Given the description of an element on the screen output the (x, y) to click on. 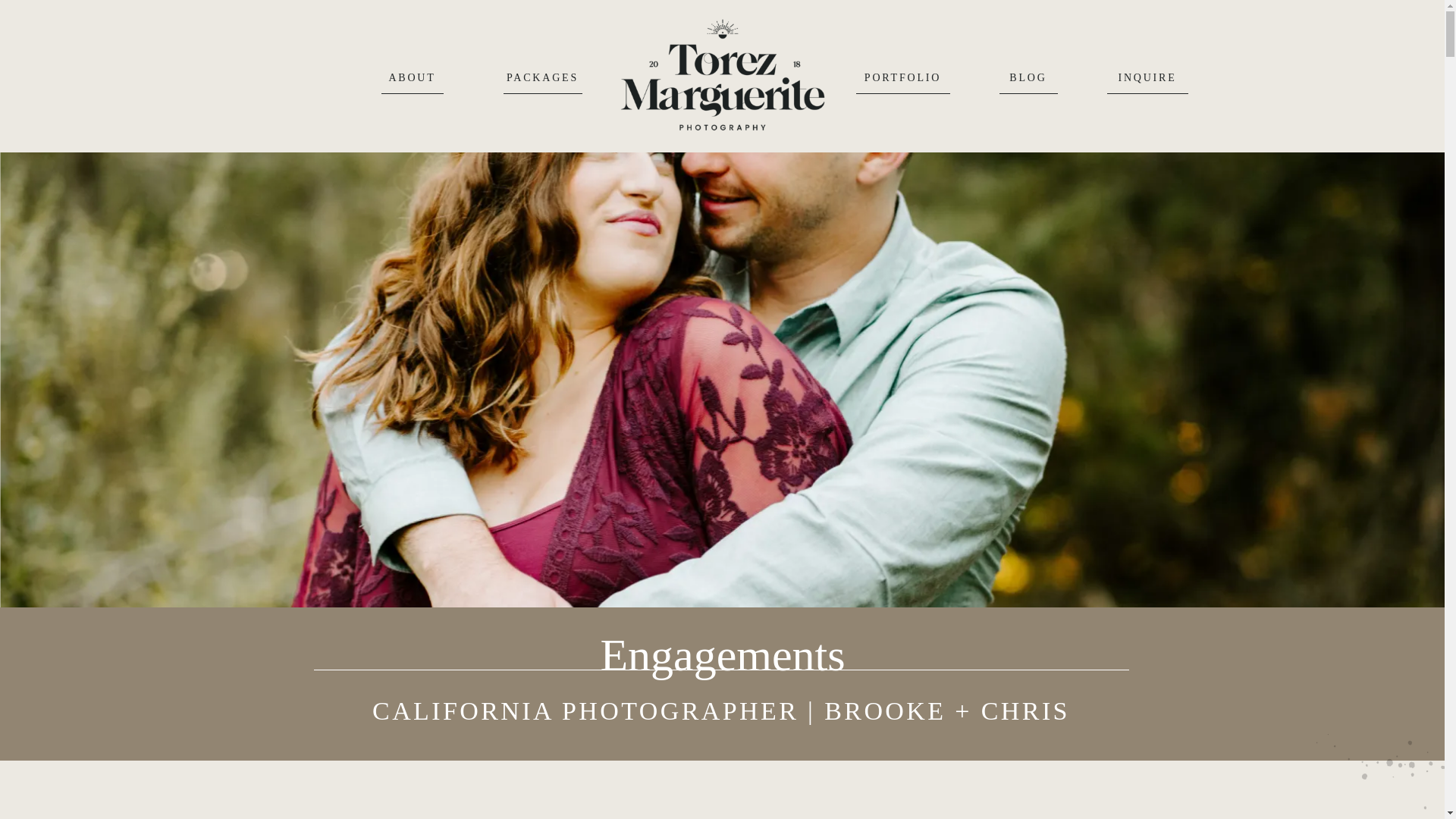
PACKAGES (542, 76)
ABOUT (411, 76)
BLOG (1028, 76)
PORTFOLIO (902, 76)
INQUIRE (1147, 76)
Engagements (721, 654)
